Given the description of an element on the screen output the (x, y) to click on. 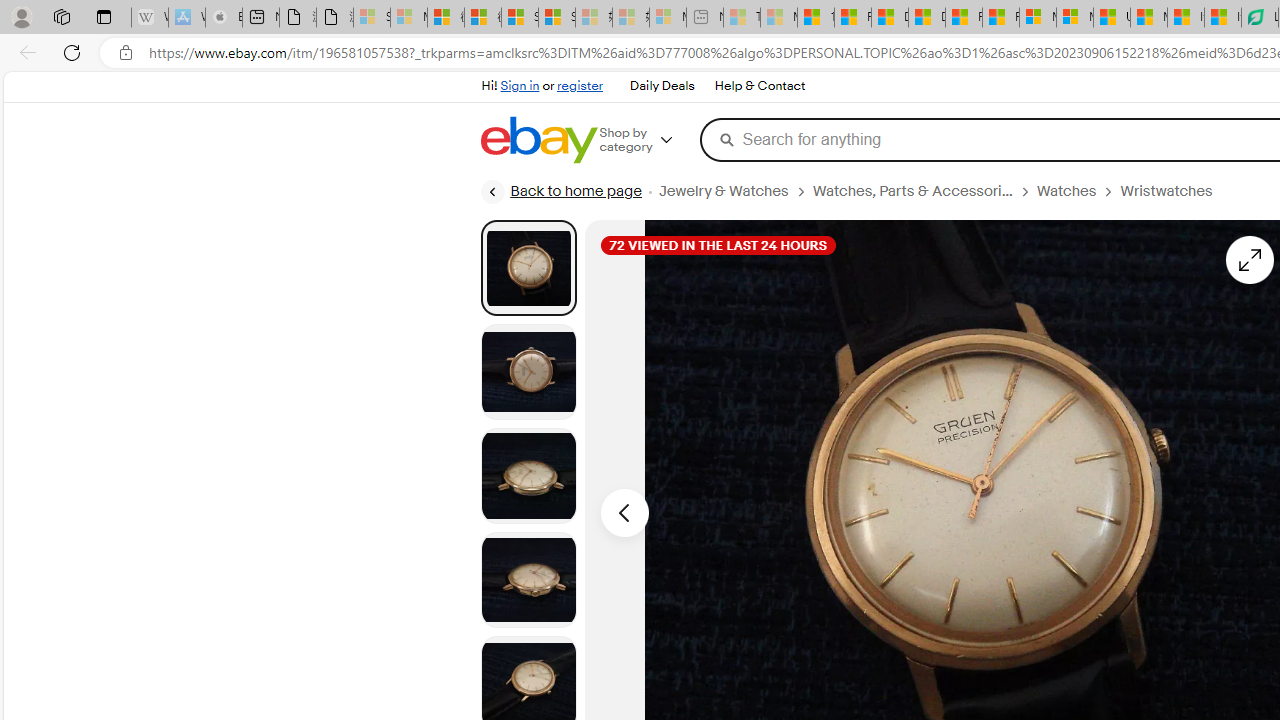
Jewelry & Watches (734, 191)
Shop by category (649, 140)
Wristwatches (1166, 191)
Picture 2 of 8 (528, 371)
US Heat Deaths Soared To Record High Last Year (1112, 17)
Daily Deals (661, 85)
Picture 4 of 8 (528, 579)
Help & Contact (758, 85)
Help & Contact (760, 86)
Marine life - MSN - Sleeping (779, 17)
Top Stories - MSN - Sleeping (742, 17)
